Given the description of an element on the screen output the (x, y) to click on. 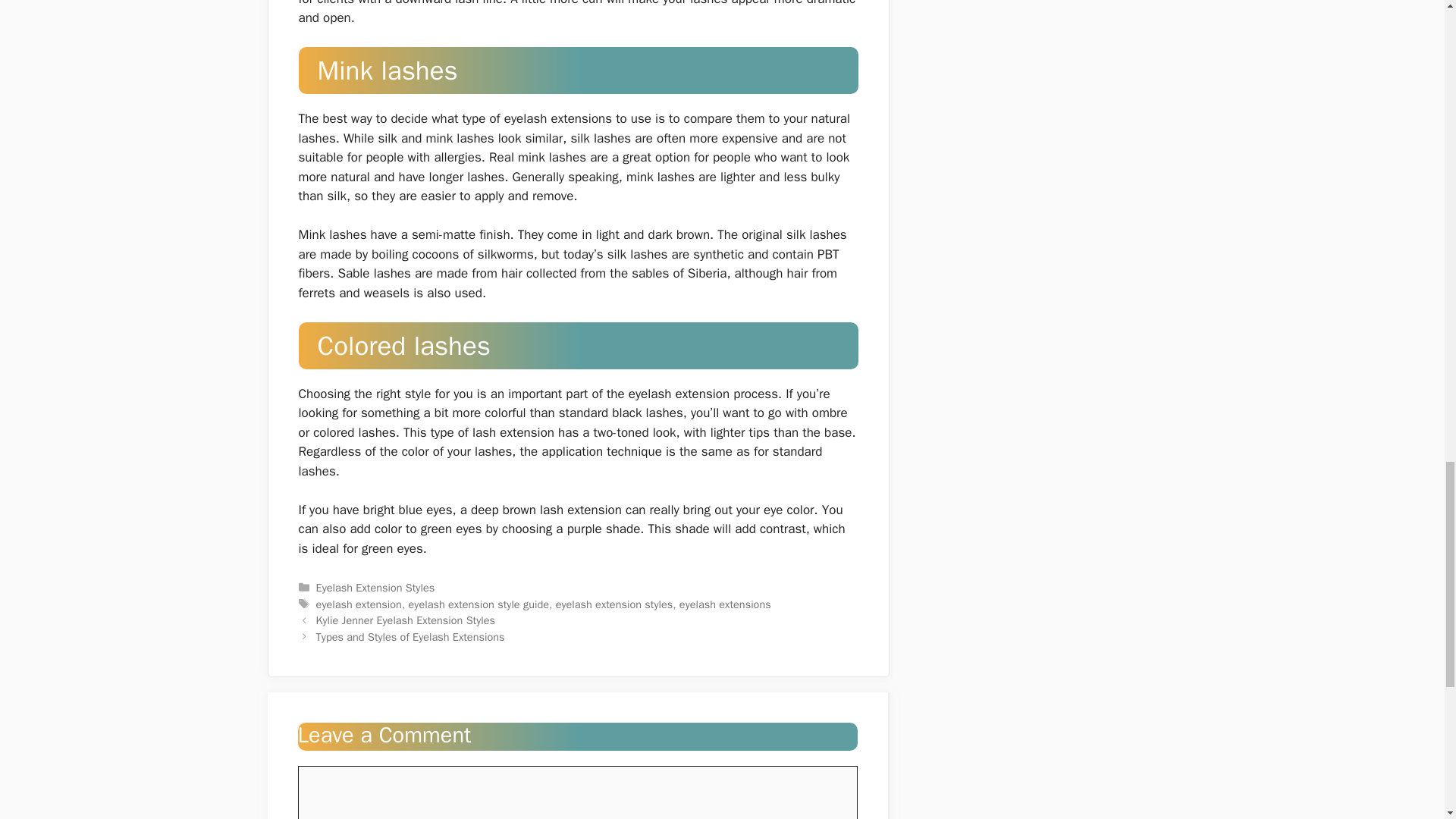
eyelash extension styles (614, 603)
Kylie Jenner Eyelash Extension Styles (405, 620)
eyelash extension style guide (478, 603)
Eyelash Extension Styles (375, 587)
eyelash extension (358, 603)
Types and Styles of Eyelash Extensions (410, 636)
eyelash extensions (725, 603)
